Given the description of an element on the screen output the (x, y) to click on. 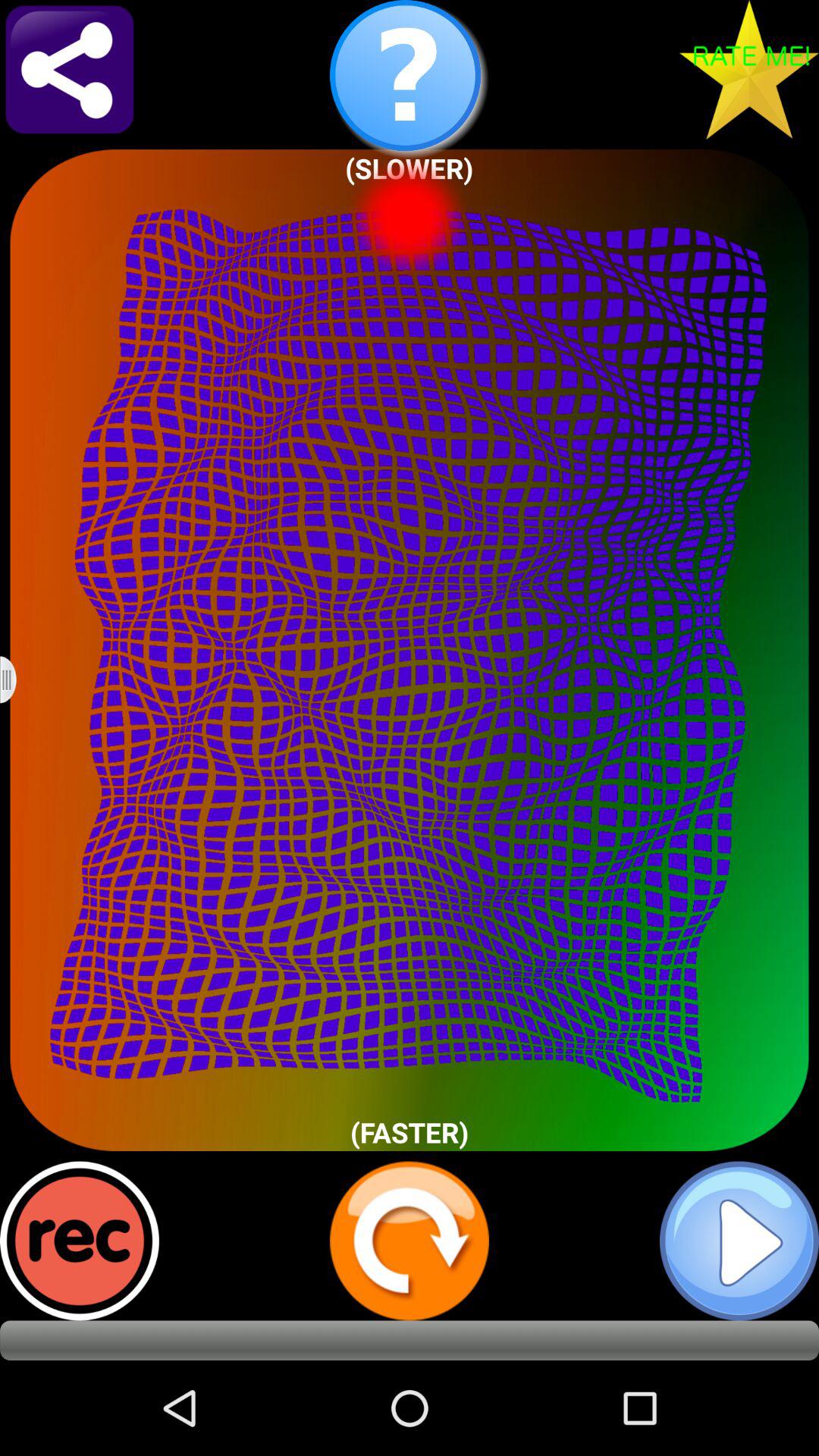
play normal (739, 1240)
